Given the description of an element on the screen output the (x, y) to click on. 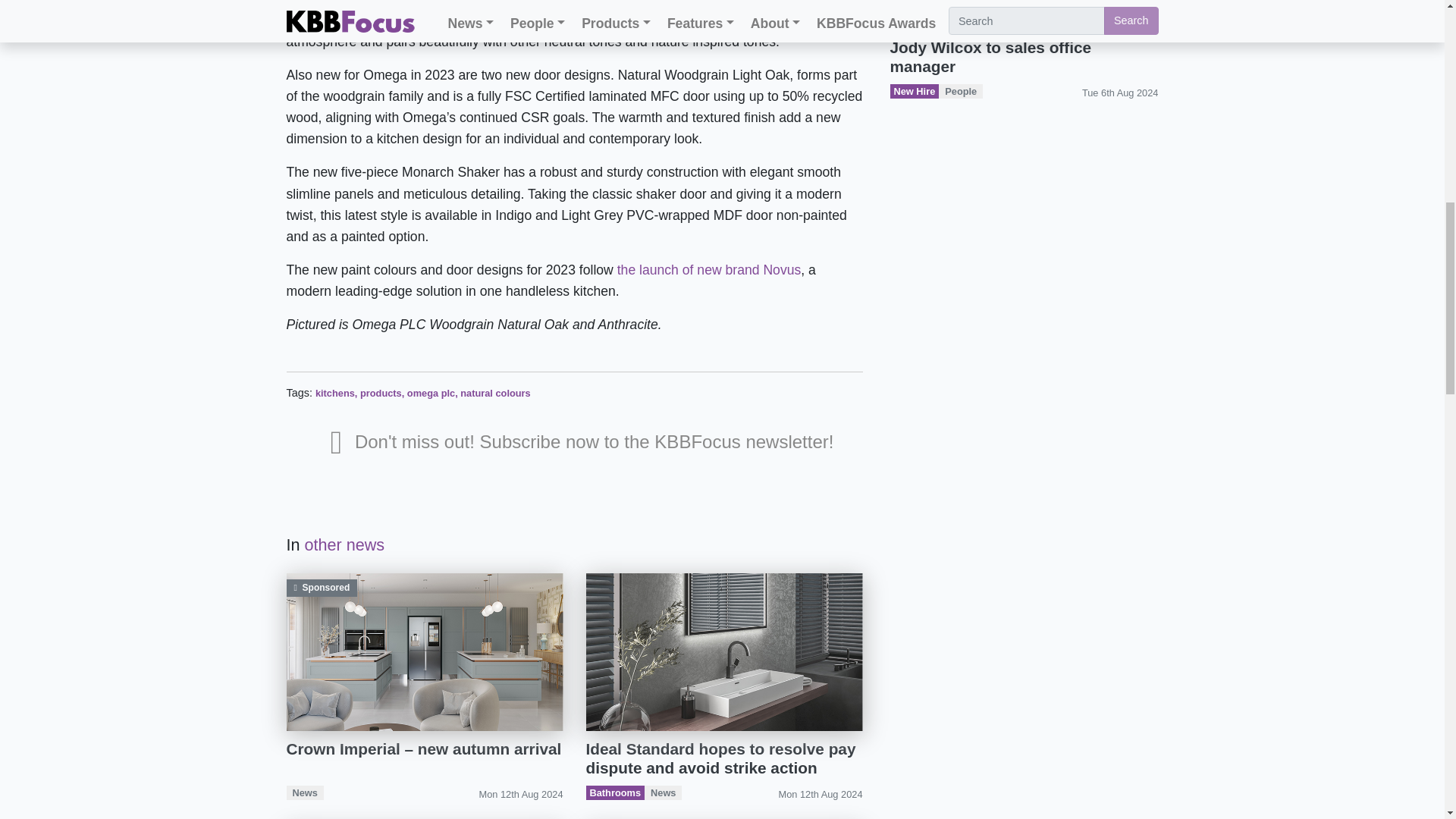
News (304, 792)
products (380, 392)
Don't miss out! Subscribe now to the KBBFocus newsletter! (582, 446)
natural colours (494, 392)
omega plc (430, 392)
Bathrooms (615, 792)
the launch of new brand Novus (709, 269)
 Sponsored (424, 653)
kitchens (335, 392)
